Given the description of an element on the screen output the (x, y) to click on. 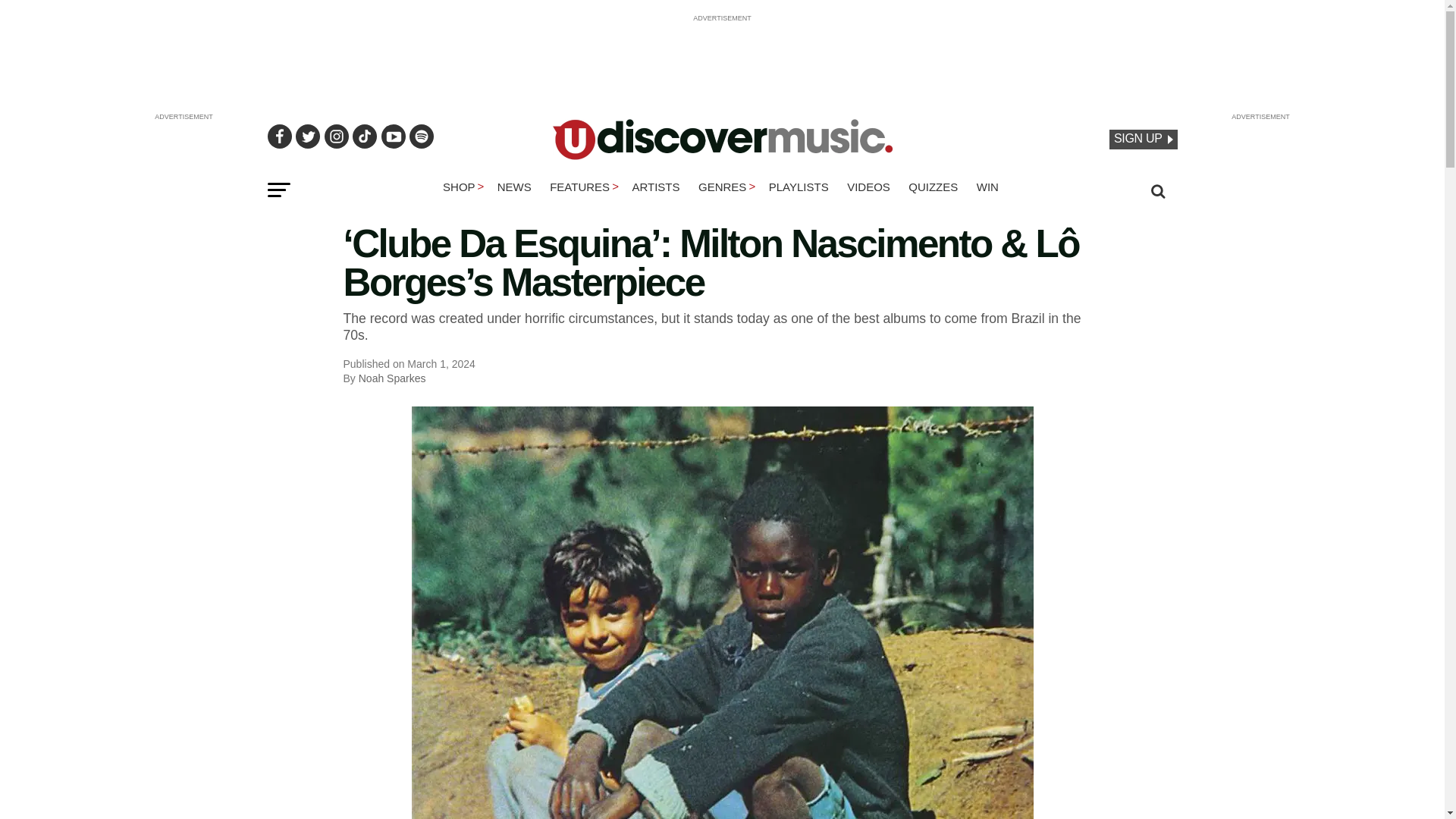
Posts by Noah Sparkes (392, 378)
3rd party ad content (721, 56)
